Given the description of an element on the screen output the (x, y) to click on. 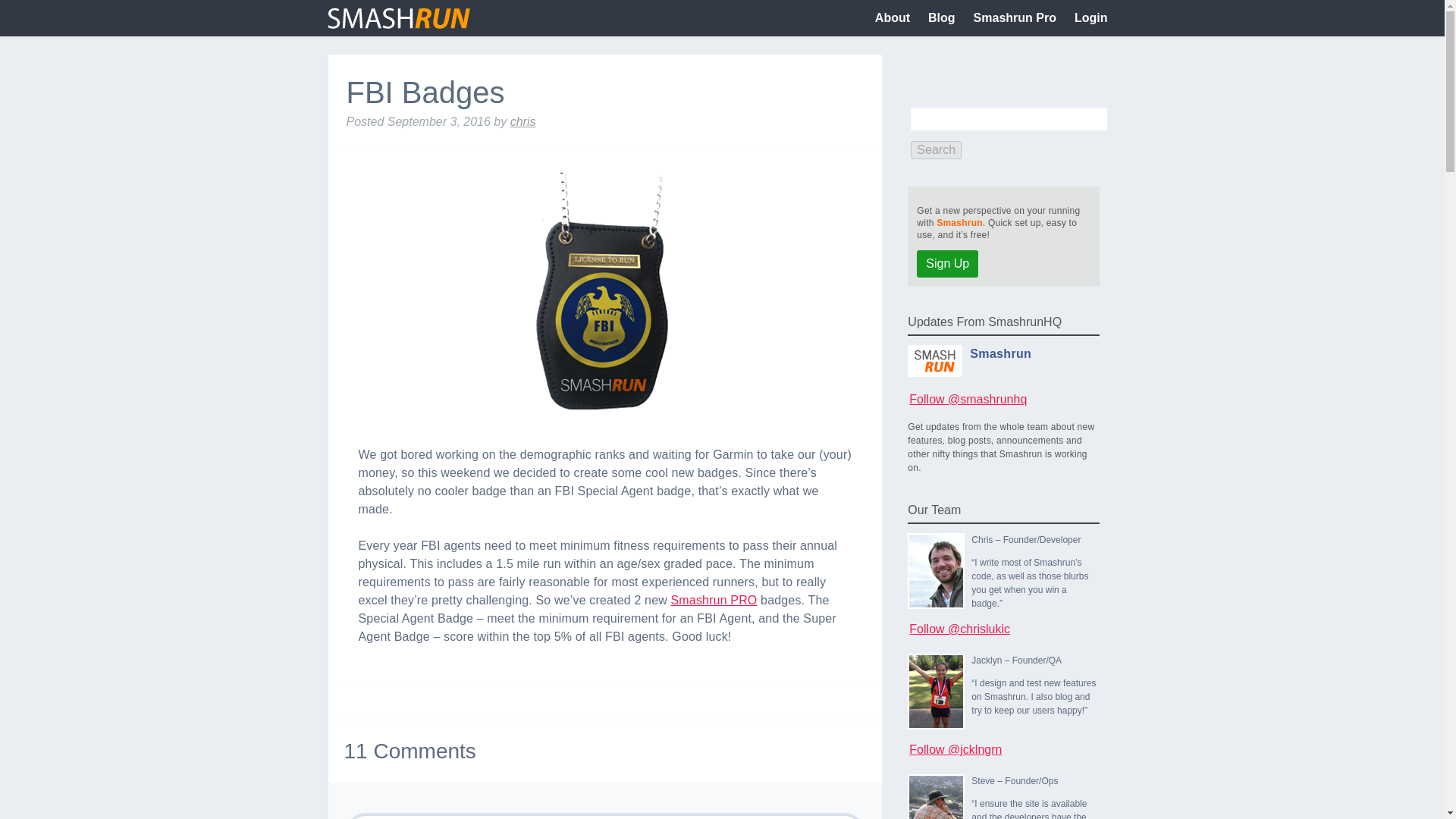
Blog (940, 18)
Search (935, 149)
Smashrun (959, 222)
Smashrun Pro (1014, 18)
chris (523, 121)
About (892, 18)
Login (1090, 18)
Smashrun PRO (714, 599)
